Given the description of an element on the screen output the (x, y) to click on. 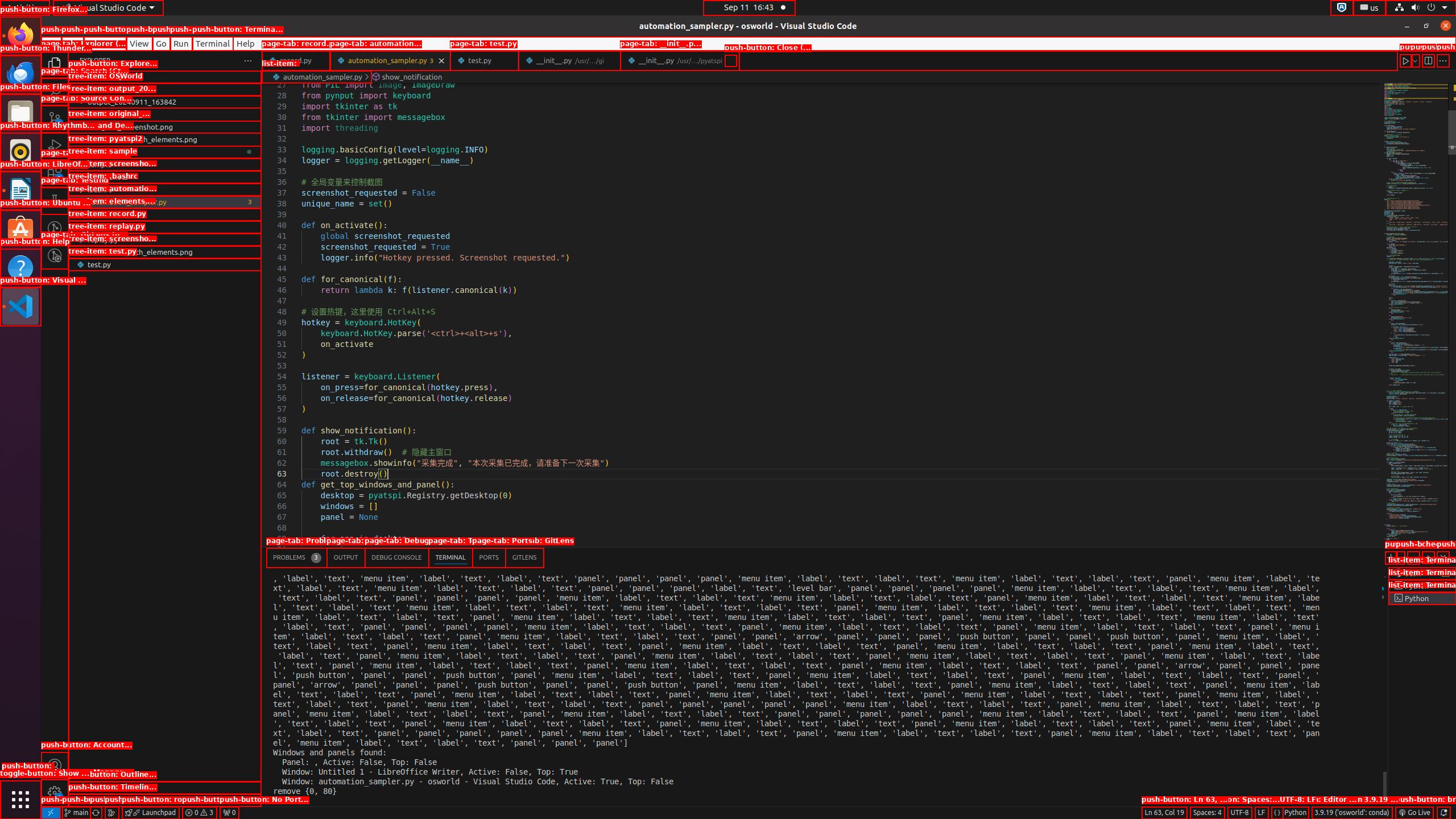
elements.json Element type: tree-item (164, 214)
Output (Ctrl+K Ctrl+H) Element type: page-tab (345, 557)
More Actions... Element type: push-button (1442, 60)
